Given the description of an element on the screen output the (x, y) to click on. 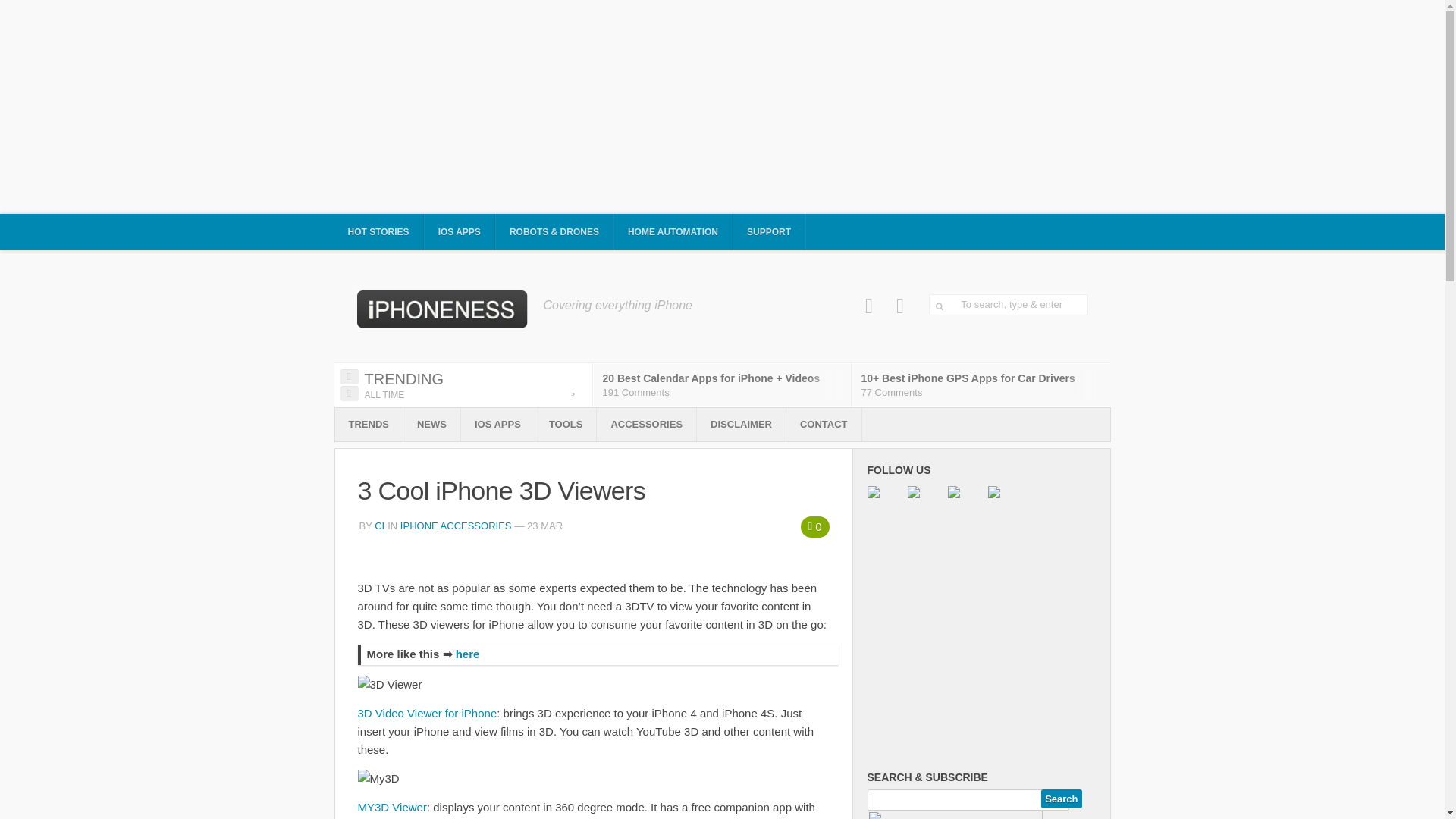
Posts by Ci (379, 525)
Facebook (869, 305)
IOS APPS (460, 231)
NEWS (431, 424)
SUPPORT (769, 231)
Search (1061, 798)
HOME AUTOMATION (673, 231)
Pinterest (900, 305)
HOT STORIES (377, 231)
TRENDS (368, 424)
